Given the description of an element on the screen output the (x, y) to click on. 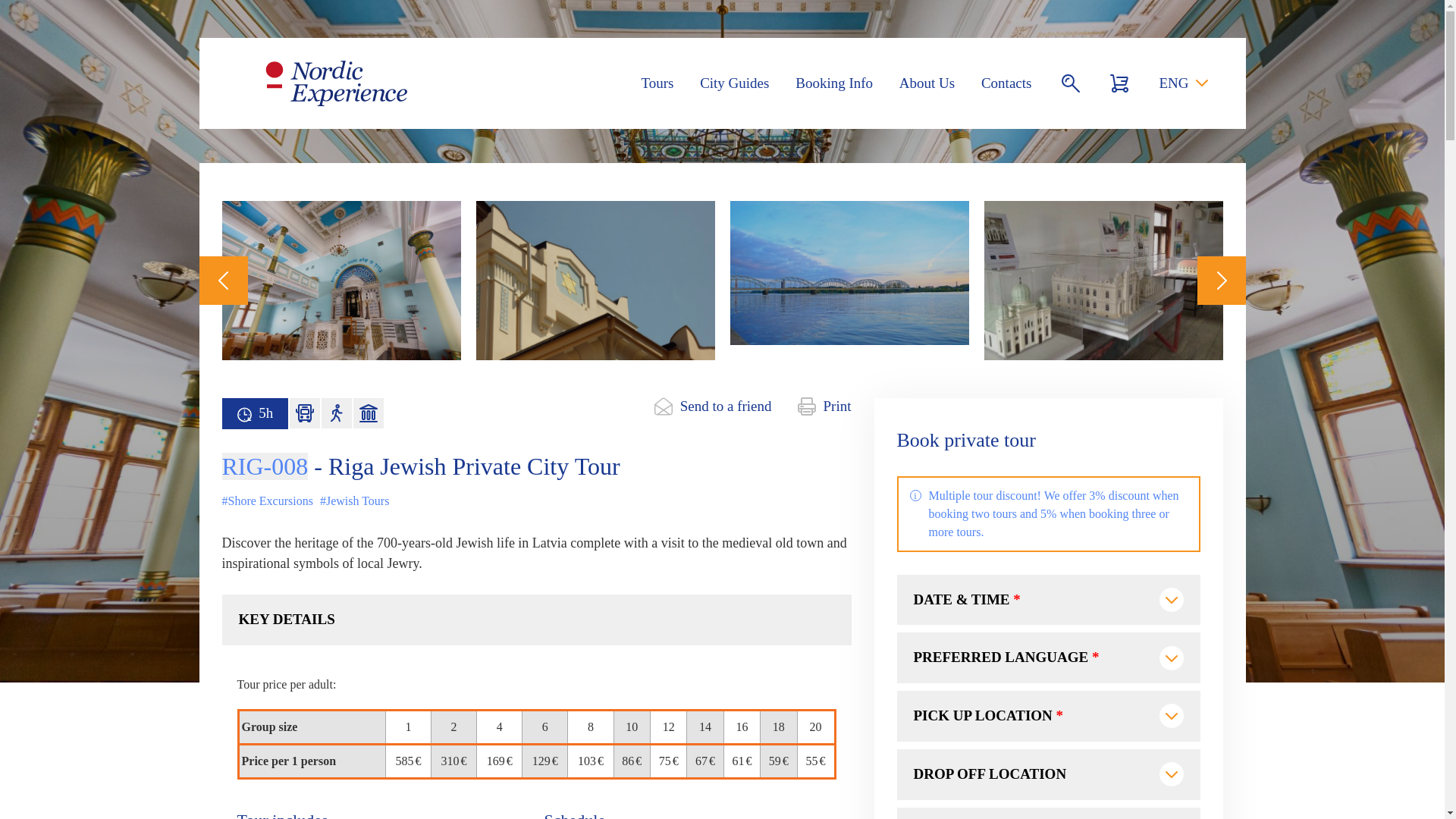
Riga, bridge over Daugava river (848, 209)
Synagogue in Riga (340, 209)
Tours (656, 82)
ENG (1182, 83)
City Guides (734, 82)
Booking Info (833, 82)
Riga synagogue (595, 209)
Nordic Experience (335, 83)
Riga Ghetto and Holocaust Museum (1103, 209)
Contacts (1006, 82)
